Given the description of an element on the screen output the (x, y) to click on. 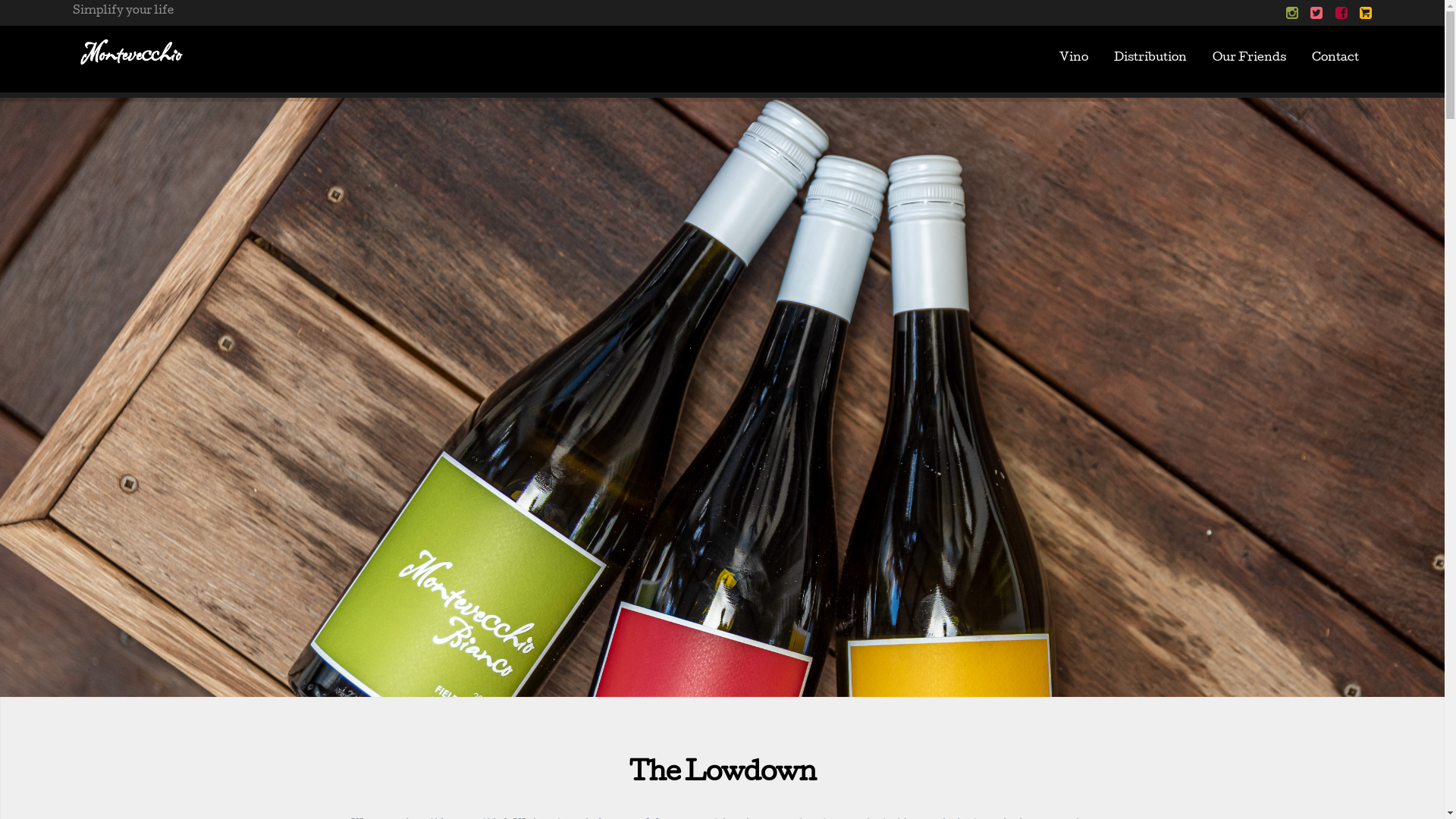
Our Friends Element type: text (1249, 58)
Distribution Element type: text (1150, 58)
Simplify your life Element type: hover (131, 51)
Contact Element type: text (1335, 58)
Facebook Element type: hover (1341, 12)
Instagram Element type: hover (1292, 12)
Purchase Montevecchio Wines from Chalmers Wine Element type: hover (1363, 12)
Twitter Element type: hover (1316, 12)
Vino Element type: text (1073, 58)
